Given the description of an element on the screen output the (x, y) to click on. 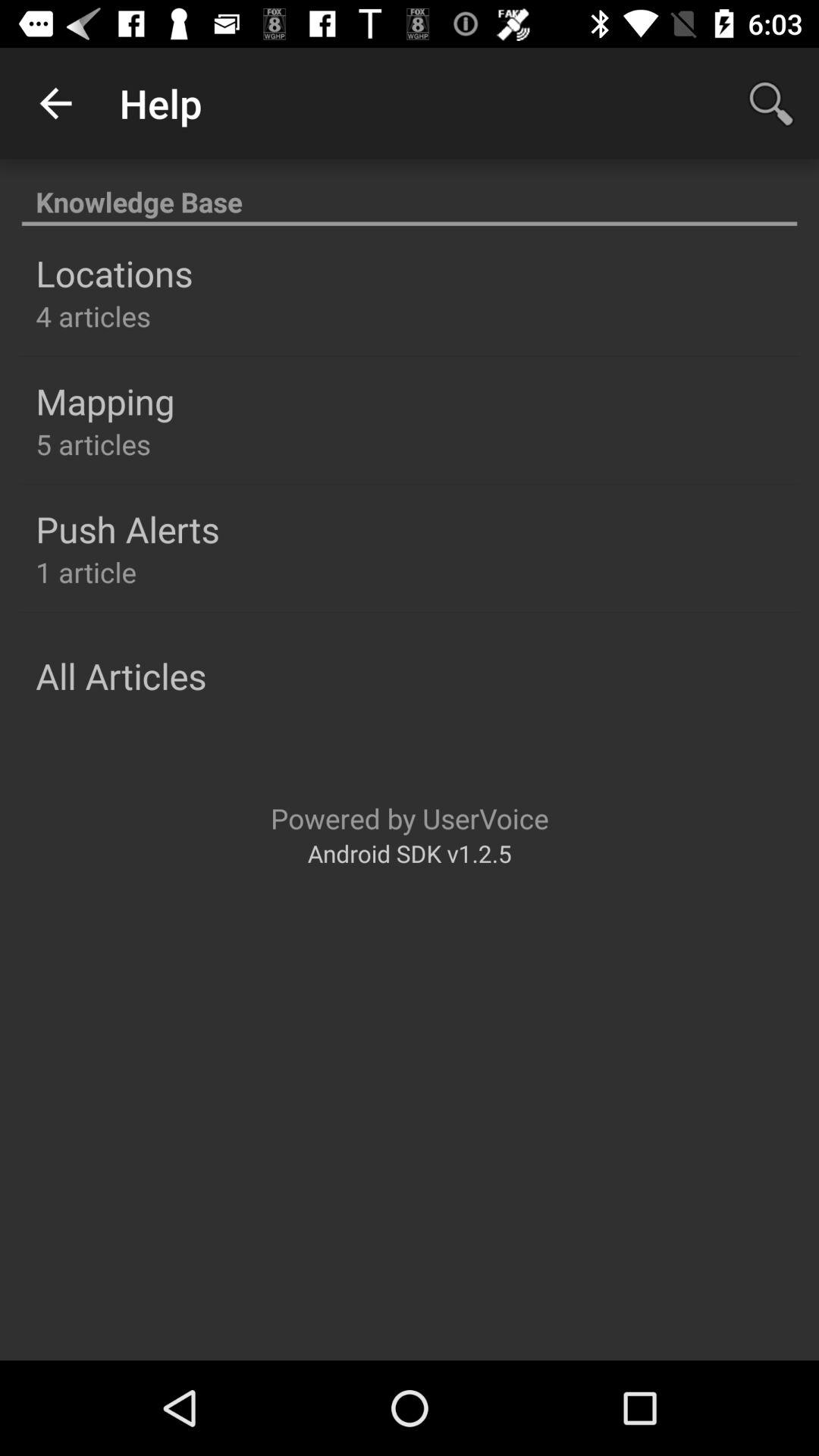
open app to the left of the help icon (55, 103)
